Given the description of an element on the screen output the (x, y) to click on. 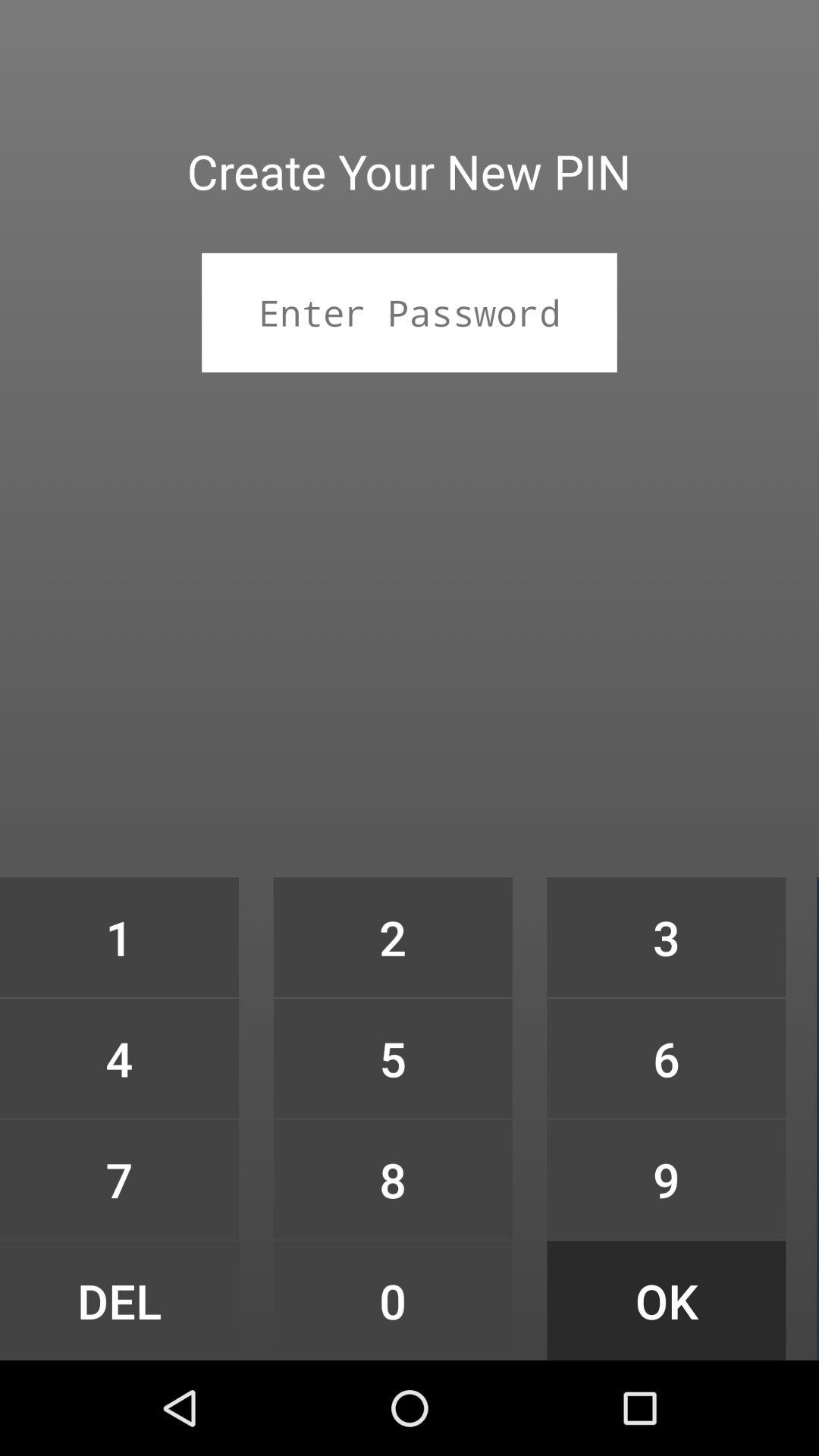
launch icon next to 8 item (119, 1300)
